Given the description of an element on the screen output the (x, y) to click on. 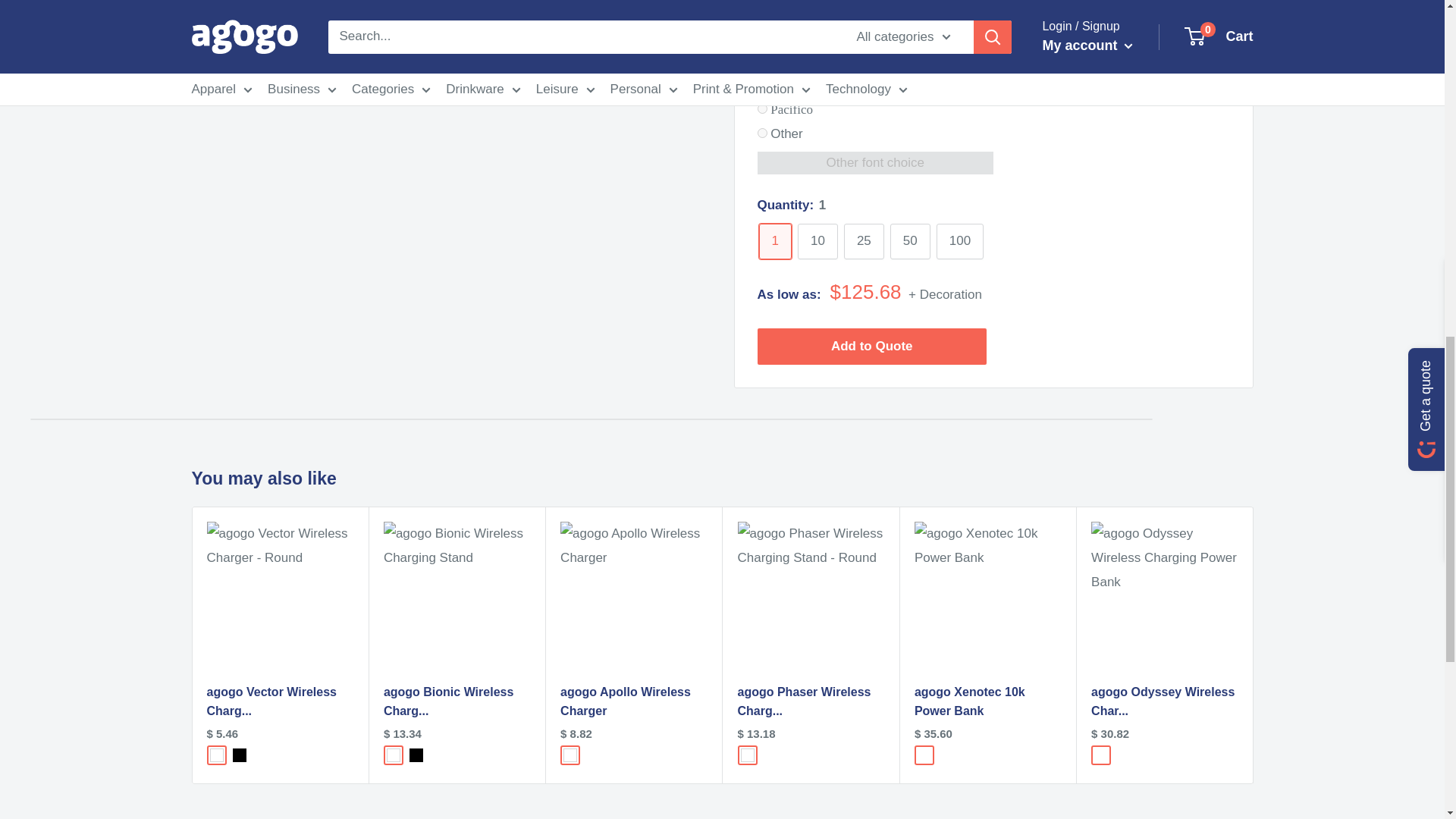
White (746, 755)
Black (416, 755)
10 (817, 232)
Other (762, 124)
White (215, 755)
100 (960, 232)
Power bank: Black (1101, 755)
White (569, 755)
White (393, 755)
Ultra (762, 76)
Black (238, 755)
Power bank: black (924, 755)
Pacifico (762, 100)
1 (774, 232)
50 (909, 232)
